Given the description of an element on the screen output the (x, y) to click on. 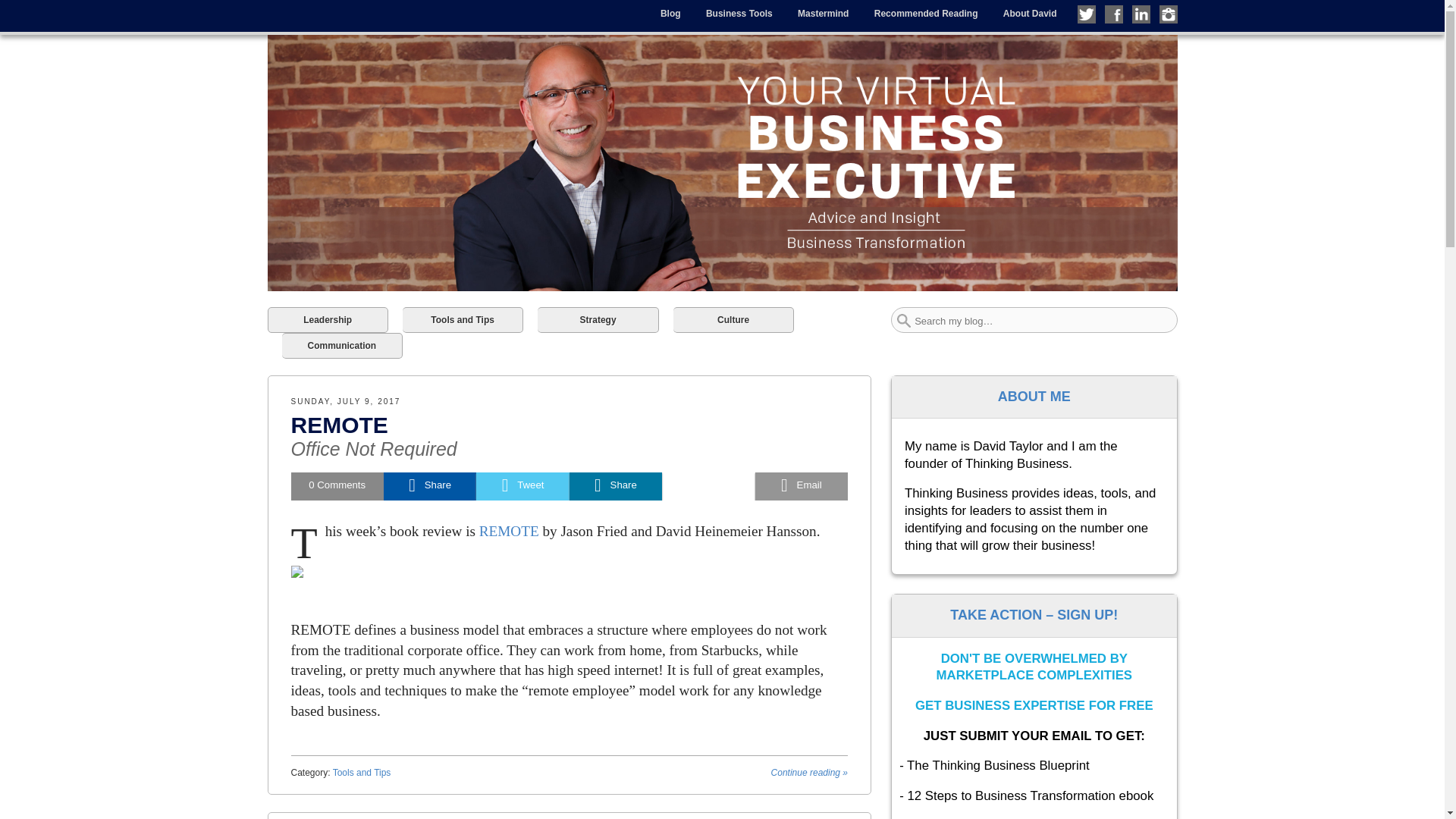
REMOTE (809, 772)
Leadership (326, 319)
Recommended Reading (926, 14)
Tools and Tips (362, 772)
Permalink to REMOTE (339, 424)
Business Tools (739, 14)
Tools and Tips (462, 319)
About David (1029, 14)
Communication (342, 345)
Strategy (597, 319)
Follow me on Twitter (1085, 13)
Share on Facebook (430, 486)
Comment on this Post (337, 486)
Skip to content (299, 10)
REMOTE (339, 424)
